Given the description of an element on the screen output the (x, y) to click on. 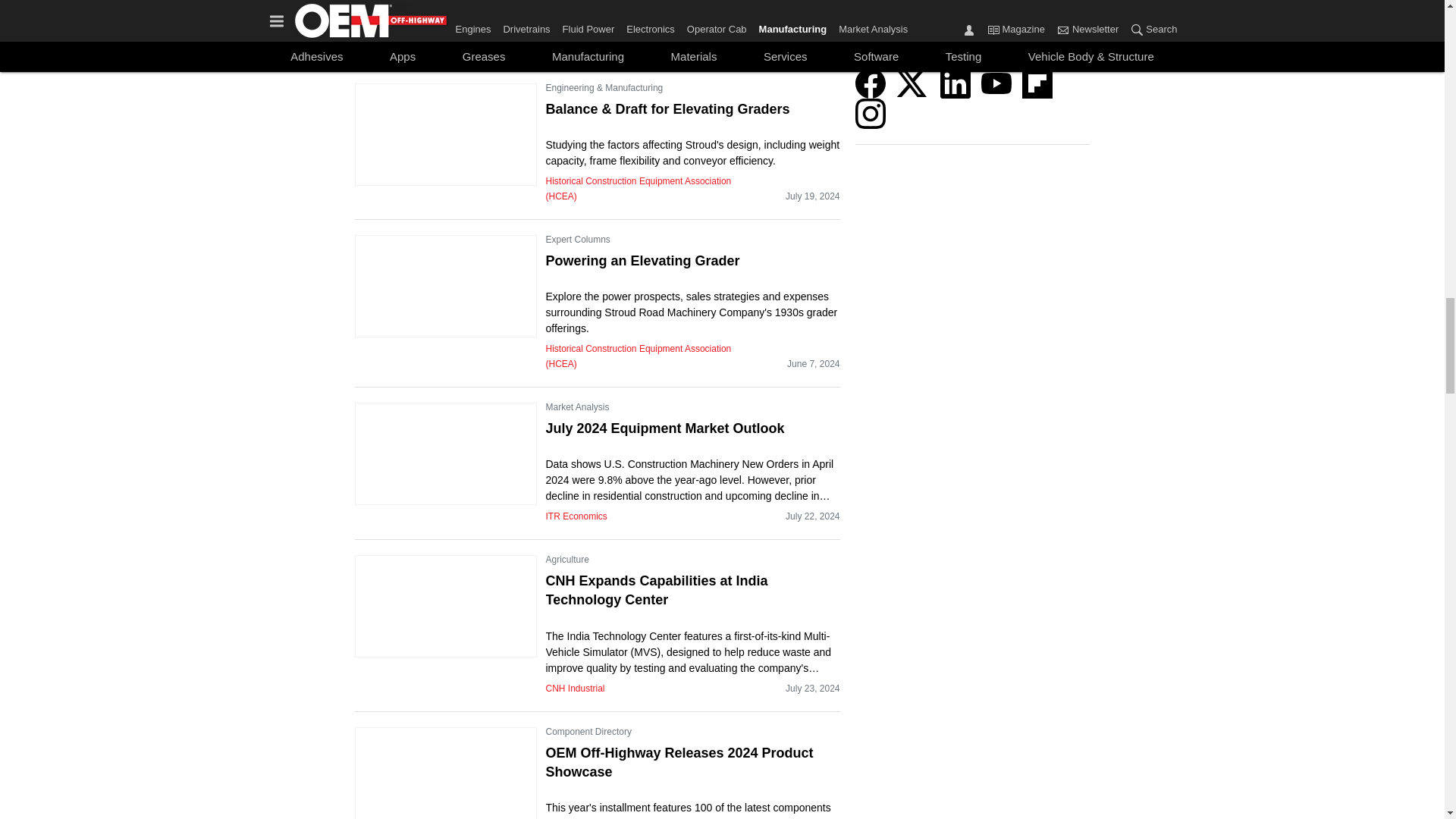
YouTube icon (996, 82)
Twitter X icon (911, 82)
Facebook icon (870, 82)
LinkedIn icon (955, 82)
Flipboard icon (1037, 82)
Instagram icon (870, 113)
